Given the description of an element on the screen output the (x, y) to click on. 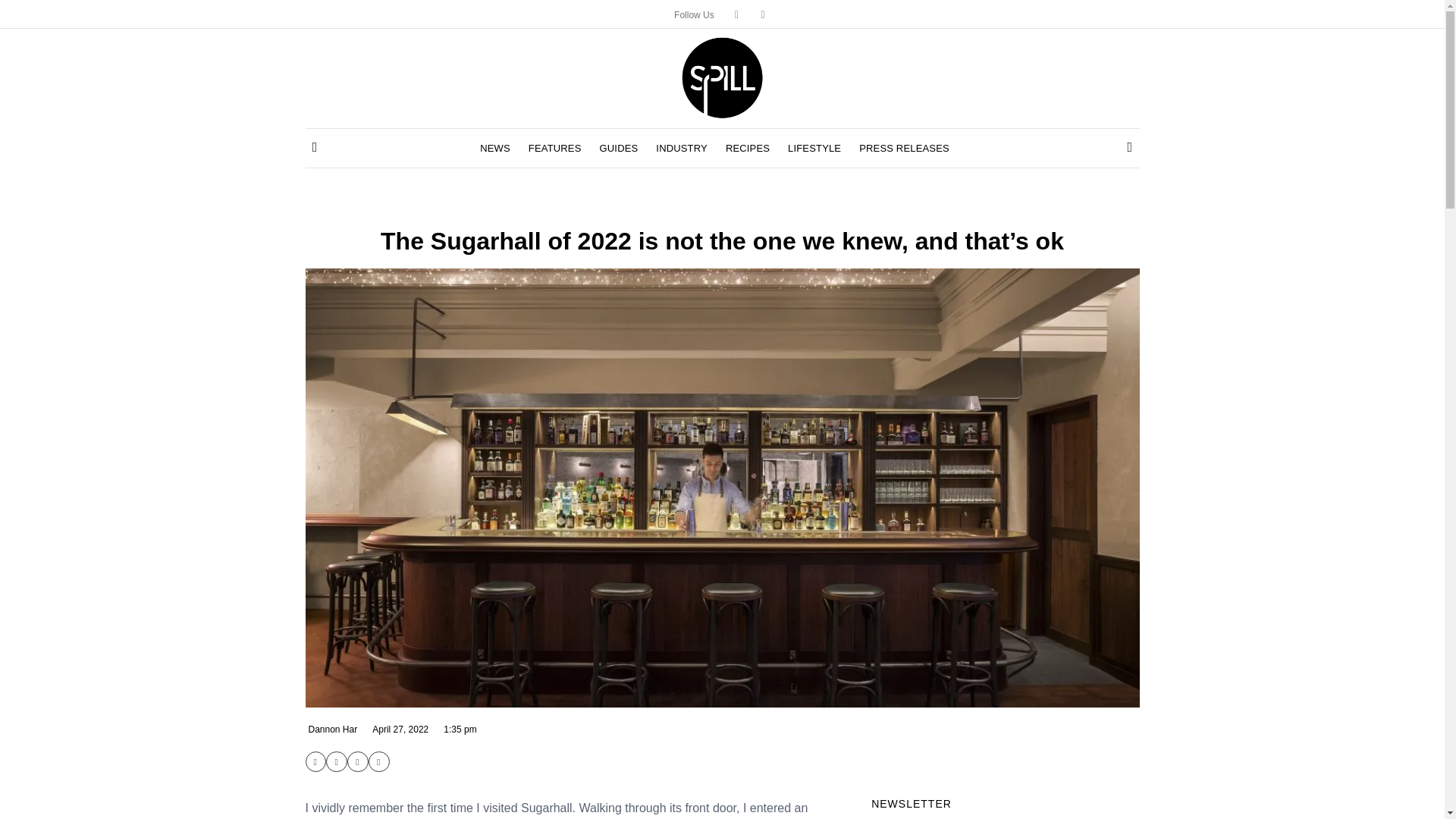
PRESS RELEASES (904, 148)
FEATURES (554, 148)
April 27, 2022 (398, 729)
Dannon Har (330, 729)
Logo (722, 75)
LIFESTYLE (814, 148)
INDUSTRY (681, 148)
RECIPES (747, 148)
GUIDES (619, 148)
